Given the description of an element on the screen output the (x, y) to click on. 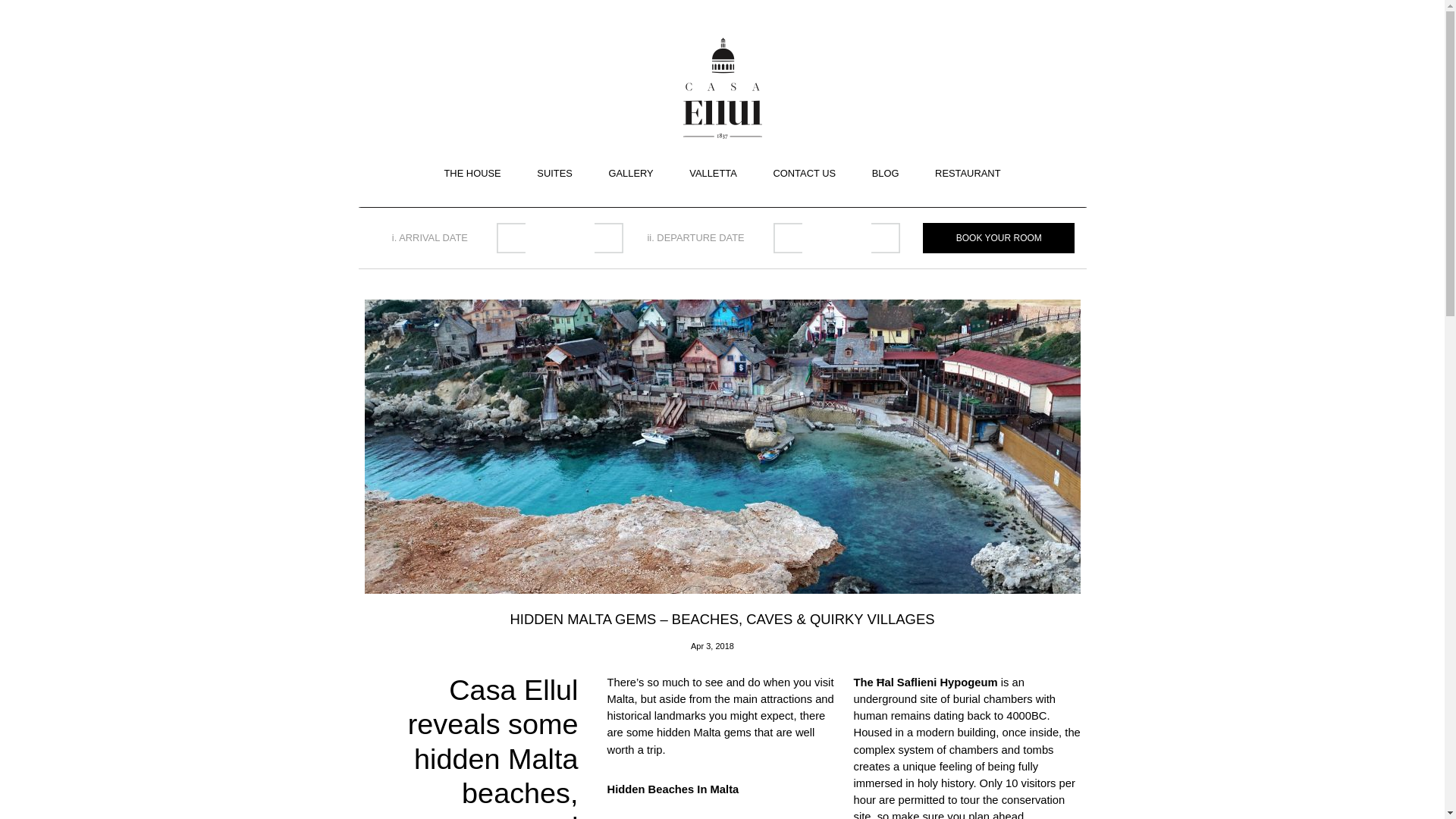
SUITES (554, 173)
RESTAURANT (967, 173)
THE HOUSE (472, 173)
Book Your Room (998, 237)
BLOG (885, 173)
CONTACT US (804, 173)
GALLERY (630, 173)
Book Your Room (998, 237)
VALLETTA (712, 173)
